Given the description of an element on the screen output the (x, y) to click on. 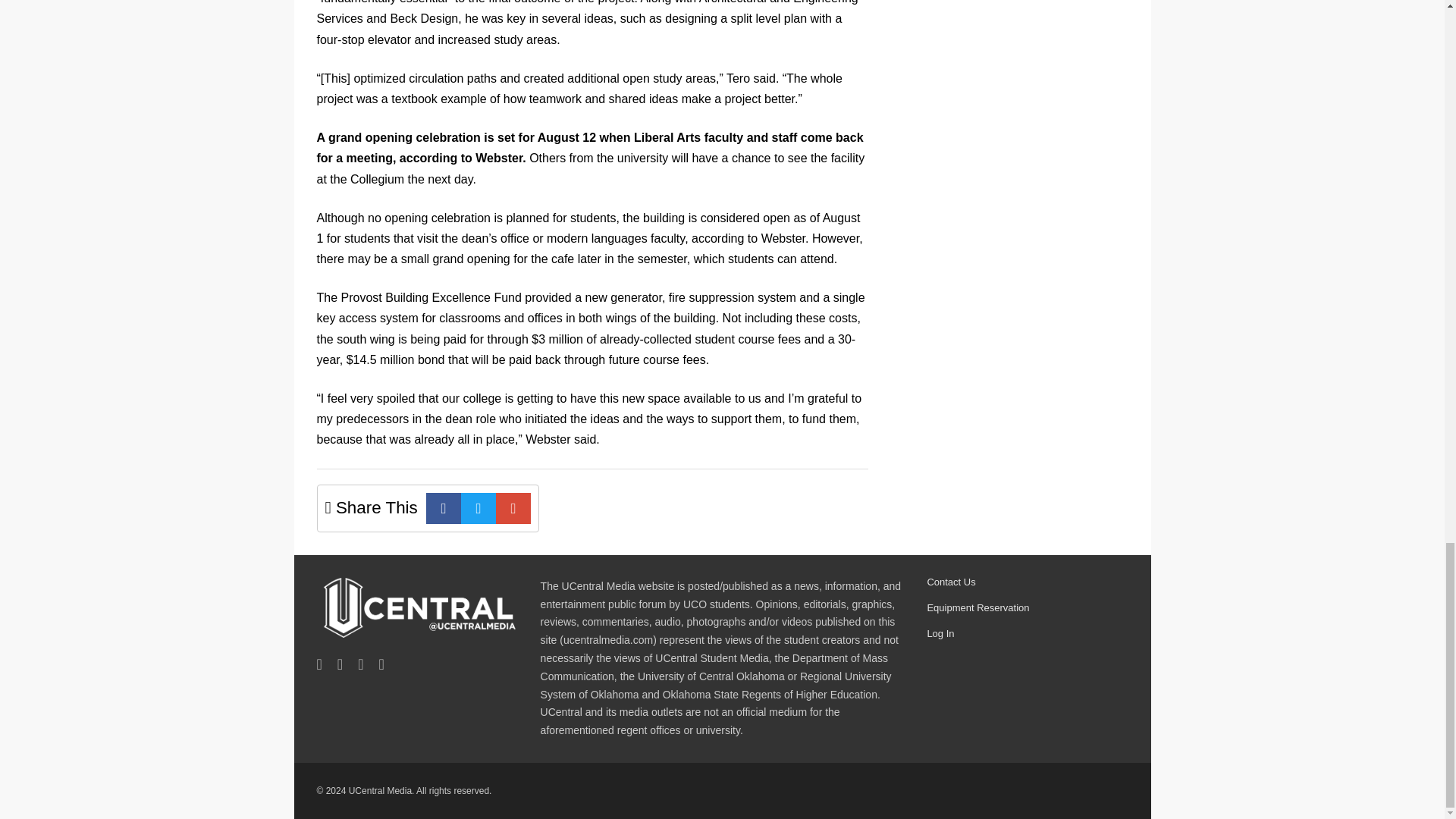
Twitter (478, 508)
Facebook (443, 508)
E-mail (513, 508)
